Given the description of an element on the screen output the (x, y) to click on. 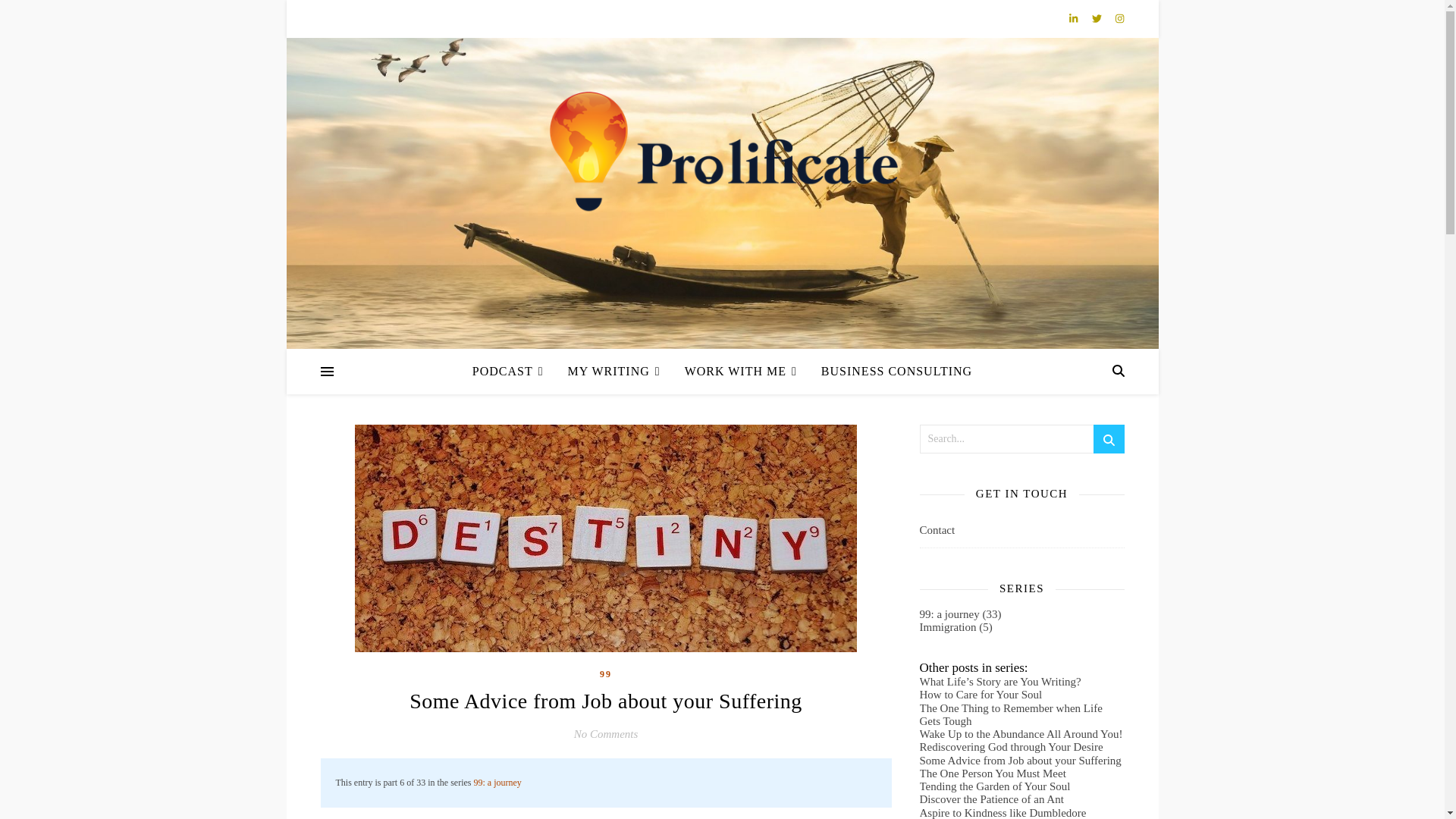
99: a journey (497, 781)
Prolificate (722, 153)
MY WRITING (614, 370)
BUSINESS CONSULTING (890, 370)
No Comments (606, 734)
PODCAST (513, 370)
99 (605, 674)
WORK WITH ME (740, 370)
99: a journey (497, 781)
